Given the description of an element on the screen output the (x, y) to click on. 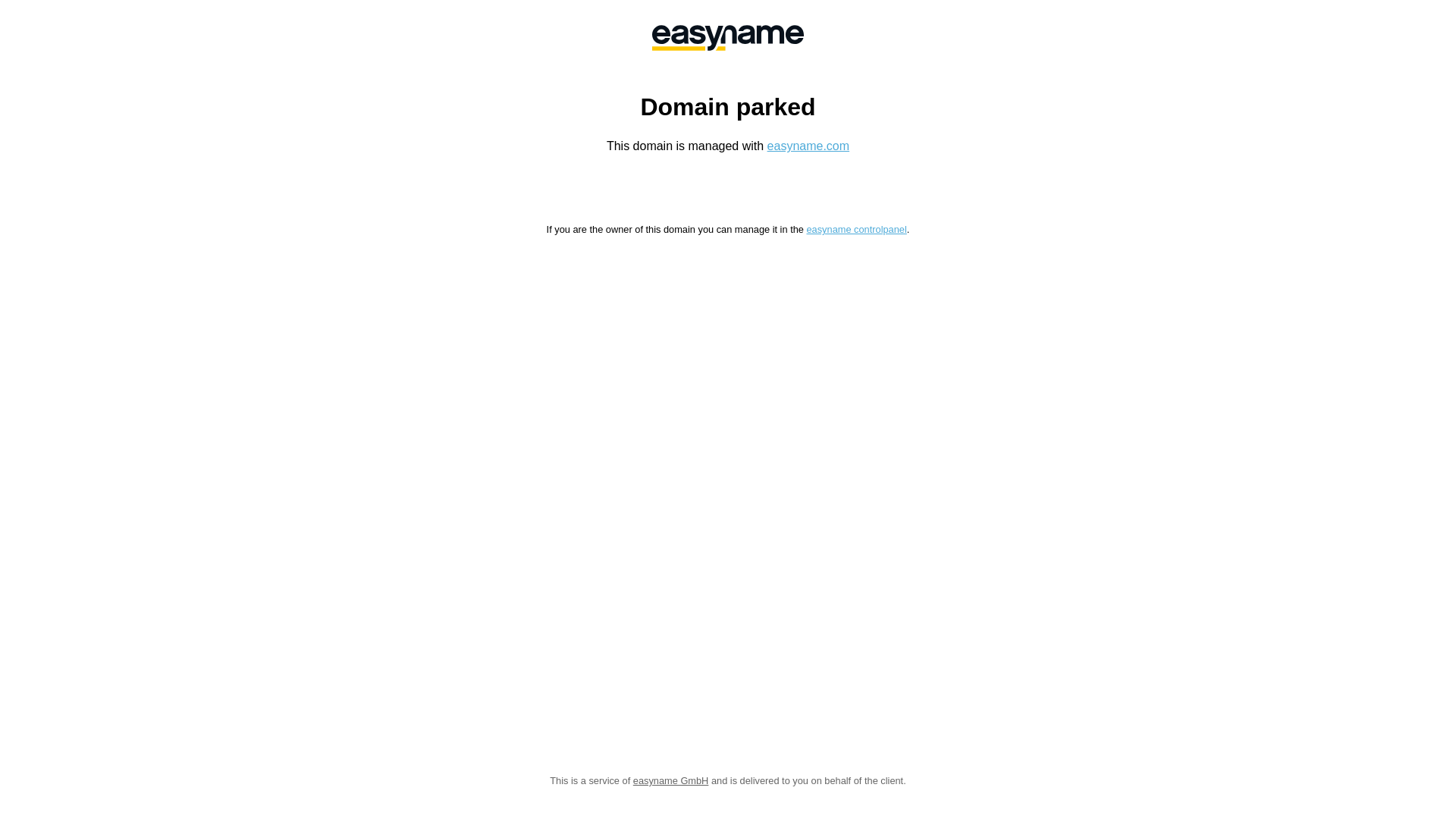
easyname controlpanel Element type: text (856, 229)
easyname GmbH Element type: text (671, 780)
easyname GmbH Element type: hover (727, 37)
easyname.com Element type: text (808, 145)
